Given the description of an element on the screen output the (x, y) to click on. 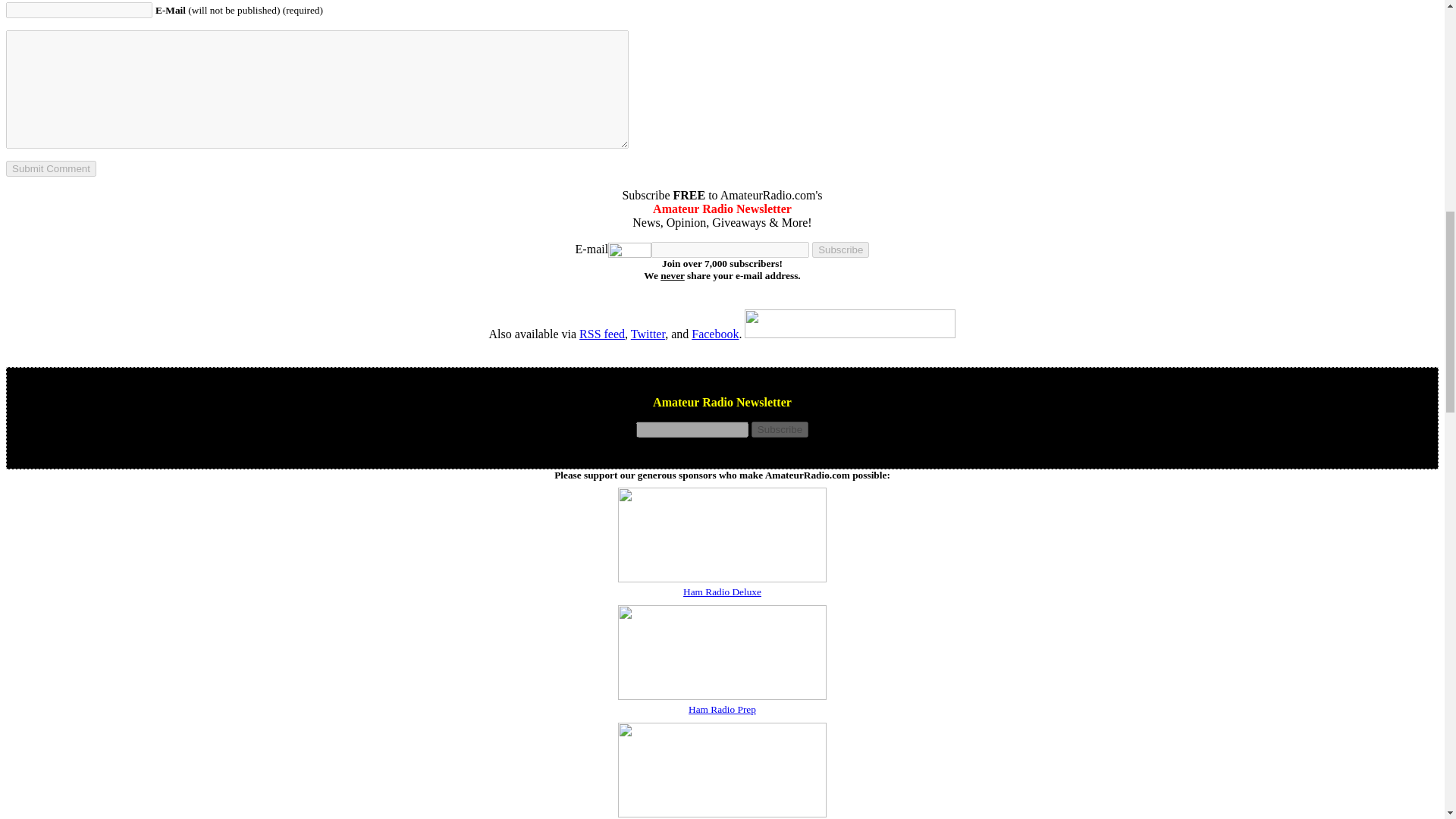
RSS feed (601, 333)
Subscribe (779, 429)
Ham Radio Deluxe (721, 590)
Twitter (647, 333)
Subscribe (779, 429)
Facebook (714, 333)
Submit Comment (50, 168)
Ham Radio Prep (721, 707)
Submit Comment (50, 168)
Subscribe (840, 249)
Subscribe (840, 249)
